Given the description of an element on the screen output the (x, y) to click on. 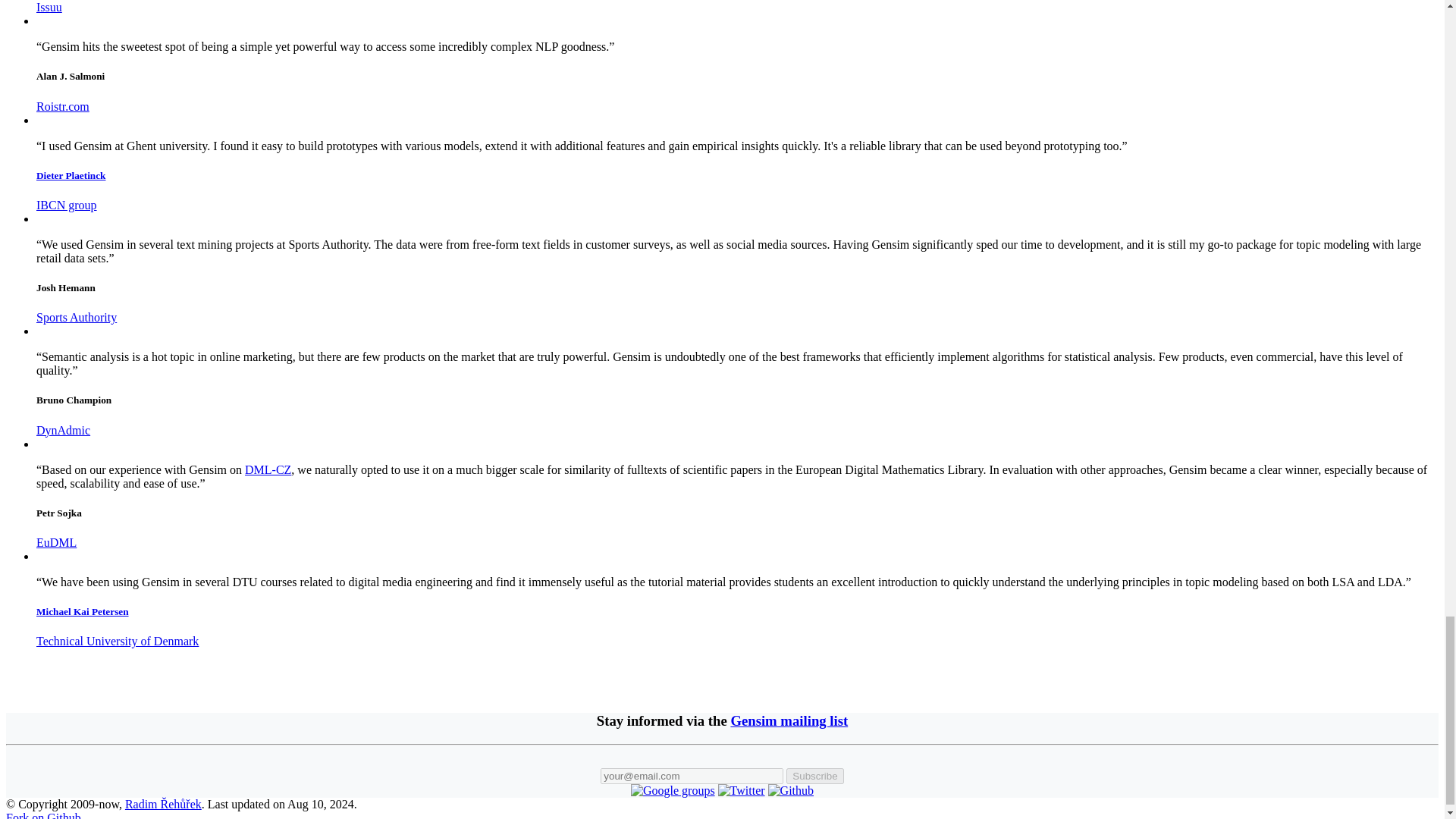
Subscribe (814, 775)
DynAdmic (63, 430)
Subscribe (814, 775)
Roistr.com (62, 106)
IBCN group (66, 205)
Issuu (49, 6)
Michael Kai Petersen (82, 611)
Gensim mailing list (788, 720)
EuDML (56, 542)
Sports Authority (76, 317)
